Given the description of an element on the screen output the (x, y) to click on. 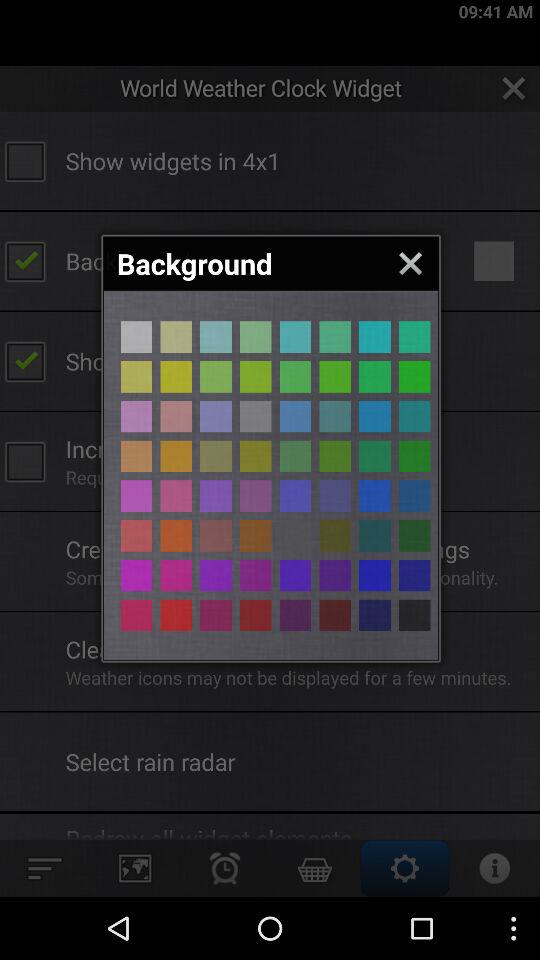
background color design (414, 535)
